Given the description of an element on the screen output the (x, y) to click on. 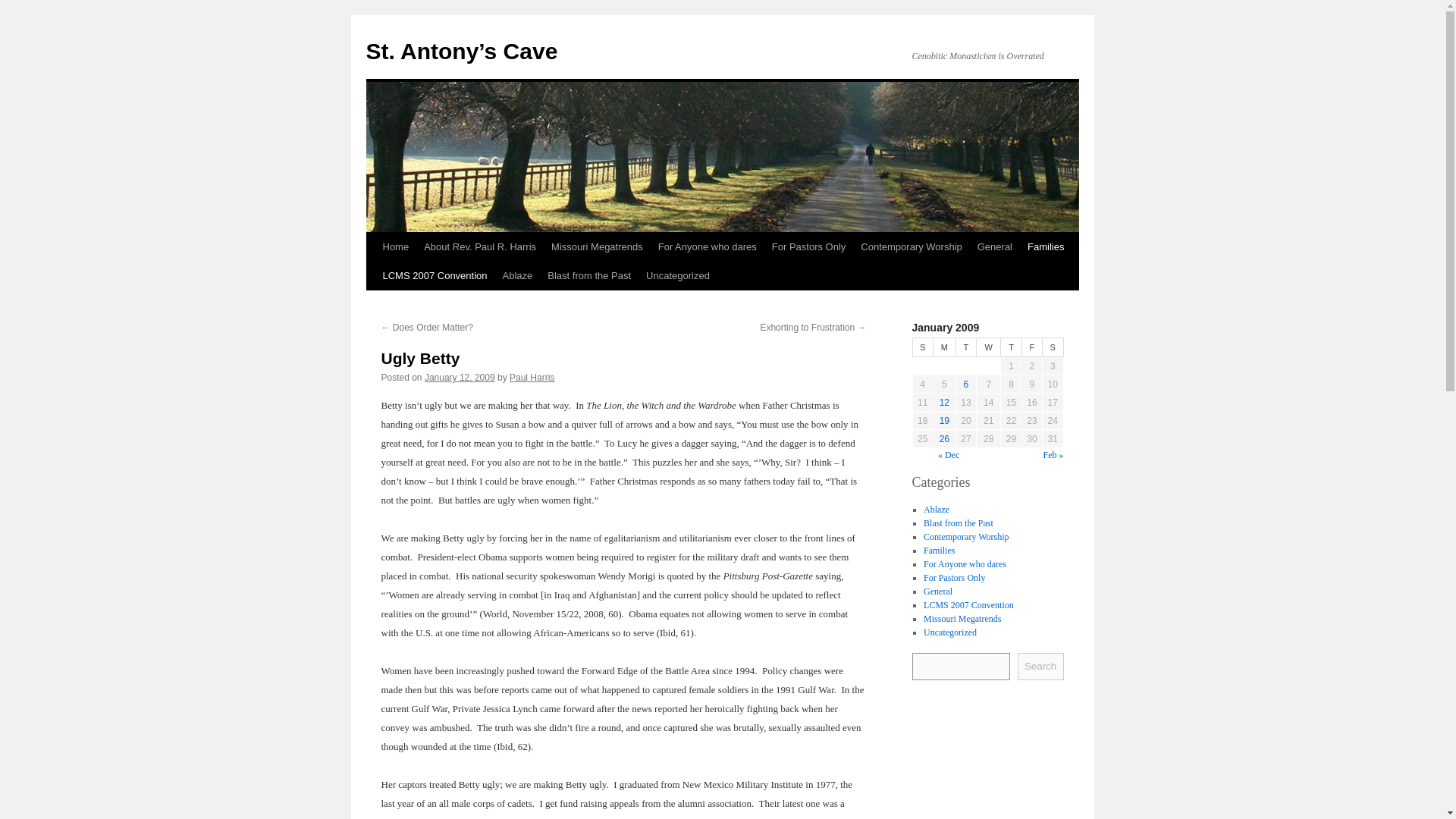
Contemporary Worship (911, 246)
Missouri Megatrends (596, 246)
General (937, 590)
26 (944, 439)
Thursday (1011, 347)
Saturday (1052, 347)
Families (939, 549)
About Rev. Paul R. Harris (479, 246)
For Anyone who dares (707, 246)
Ablaze (517, 275)
Monday (944, 347)
6:20 pm (460, 377)
Blast from the Past (589, 275)
Home (395, 246)
LCMS 2007 Convention (434, 275)
